Given the description of an element on the screen output the (x, y) to click on. 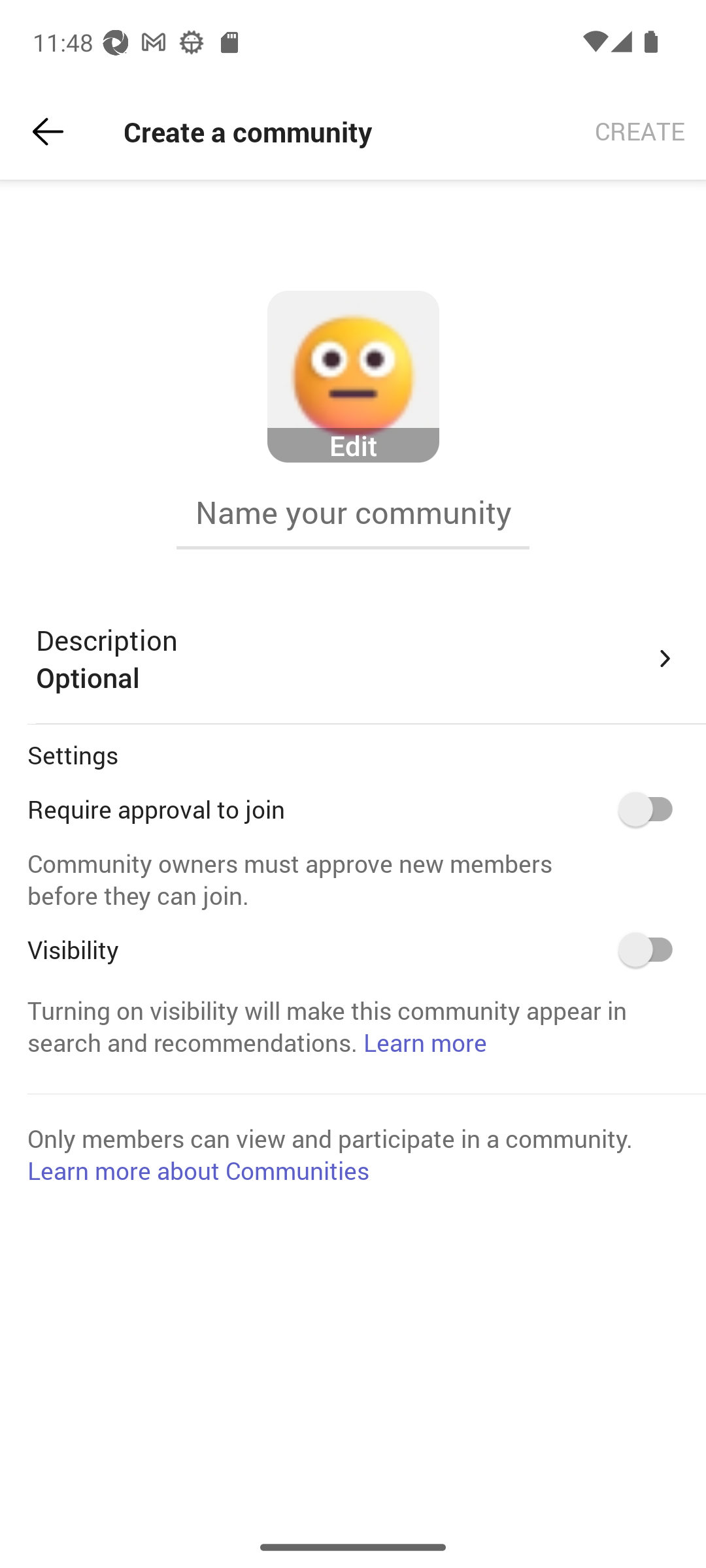
Back (48, 131)
CREATE (639, 131)
Edit community image Edit (353, 377)
Name your community (352, 511)
Description Optional (357, 659)
Require approval to join (652, 808)
Visibility (652, 949)
